Given the description of an element on the screen output the (x, y) to click on. 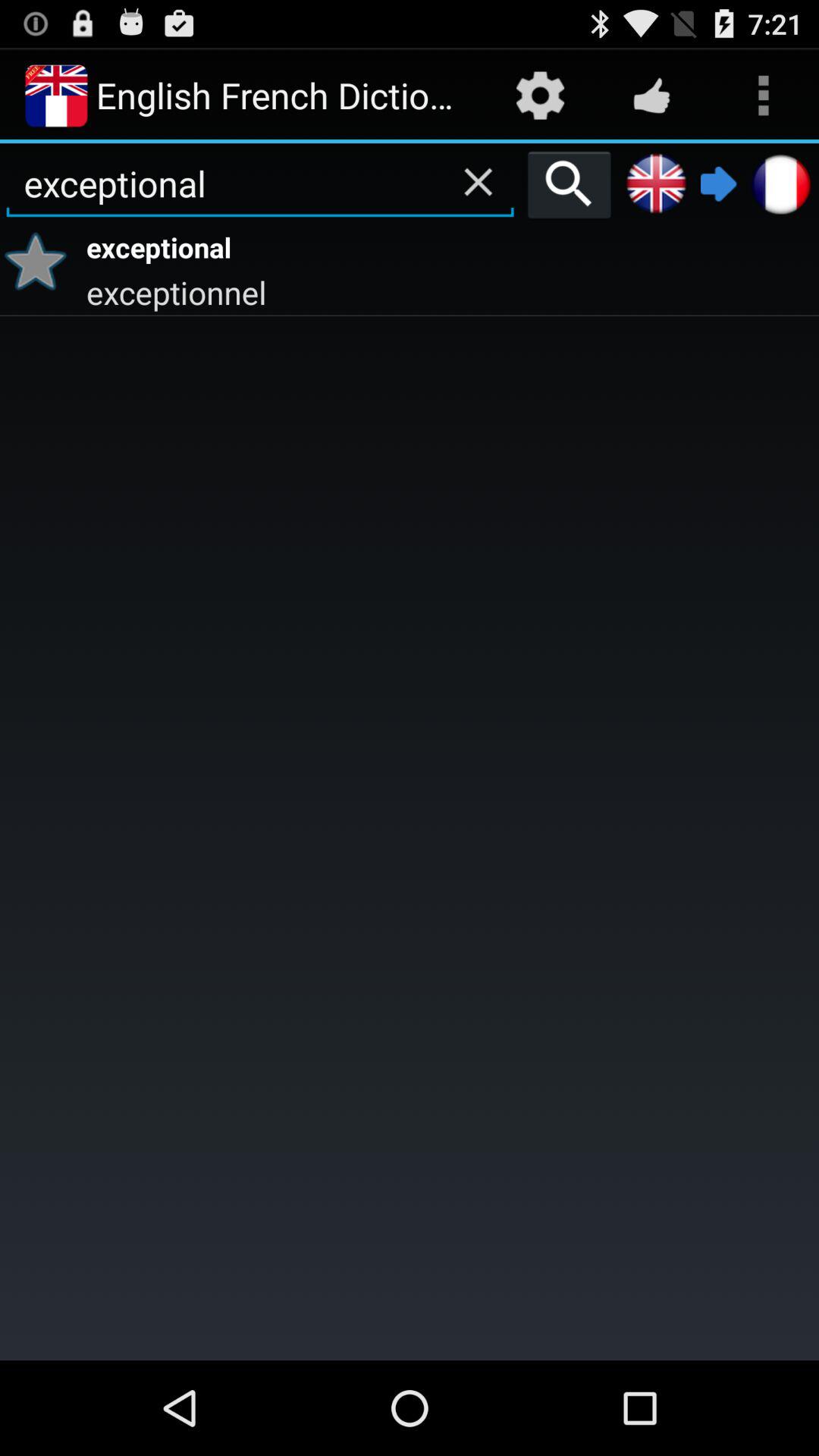
select the item below exceptional (41, 260)
